Given the description of an element on the screen output the (x, y) to click on. 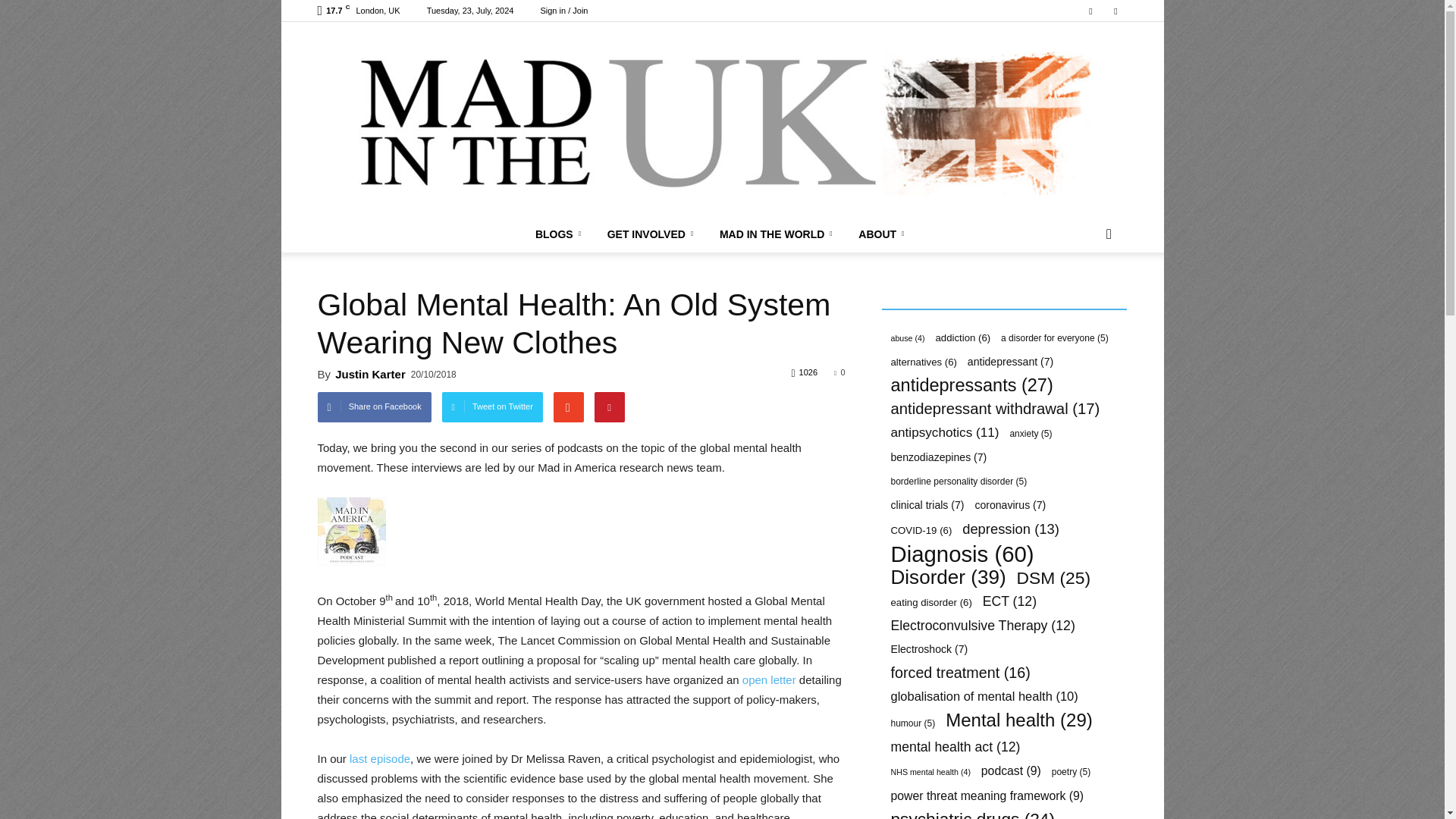
Facebook (1090, 10)
Twitter (1114, 10)
Posts by Justin Karter (370, 373)
